Given the description of an element on the screen output the (x, y) to click on. 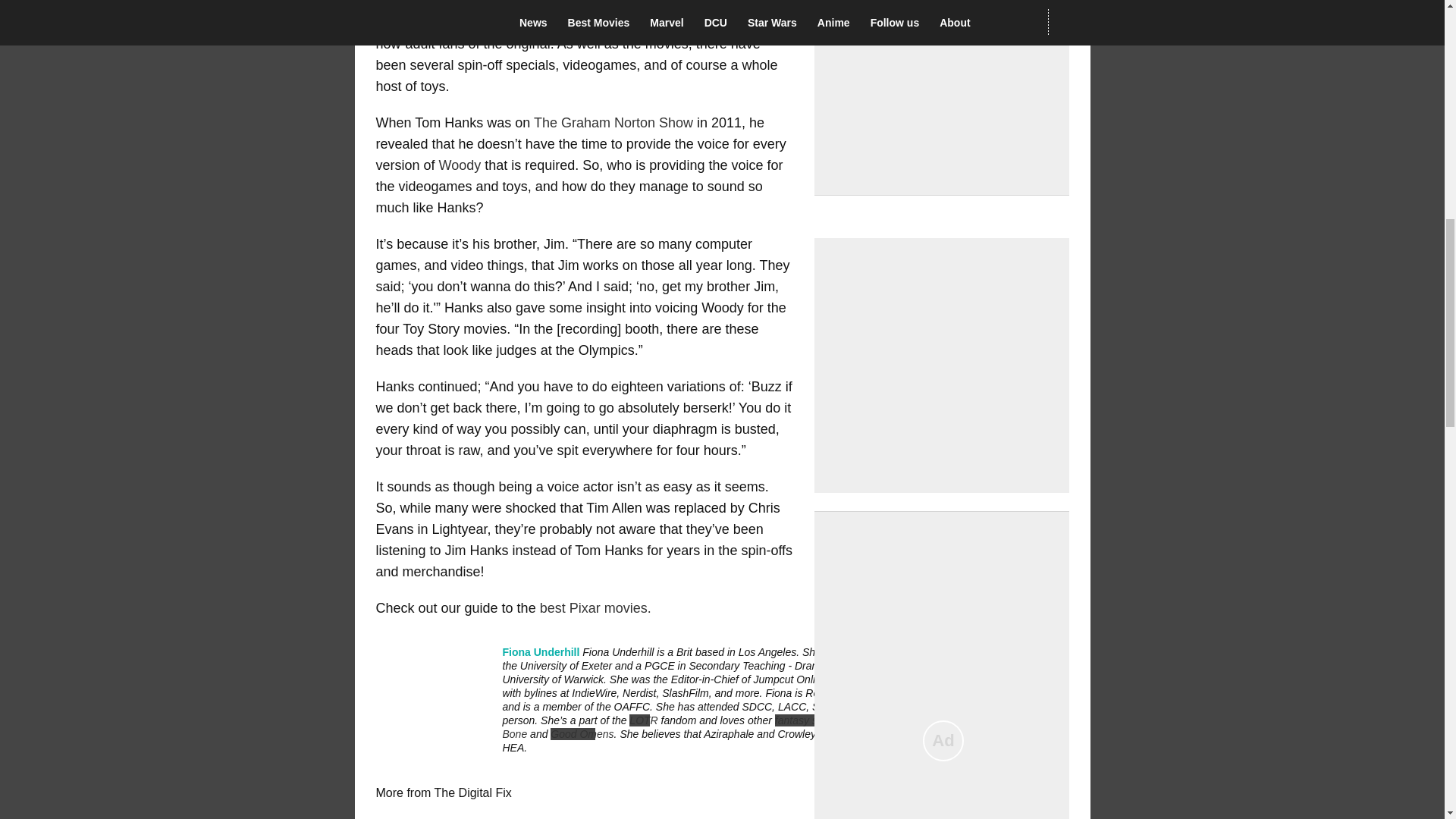
The Graham Norton Show (613, 122)
Woody (460, 165)
best Pixar movies. (595, 607)
Lightyear (583, 4)
Fiona Underhill (540, 652)
